Given the description of an element on the screen output the (x, y) to click on. 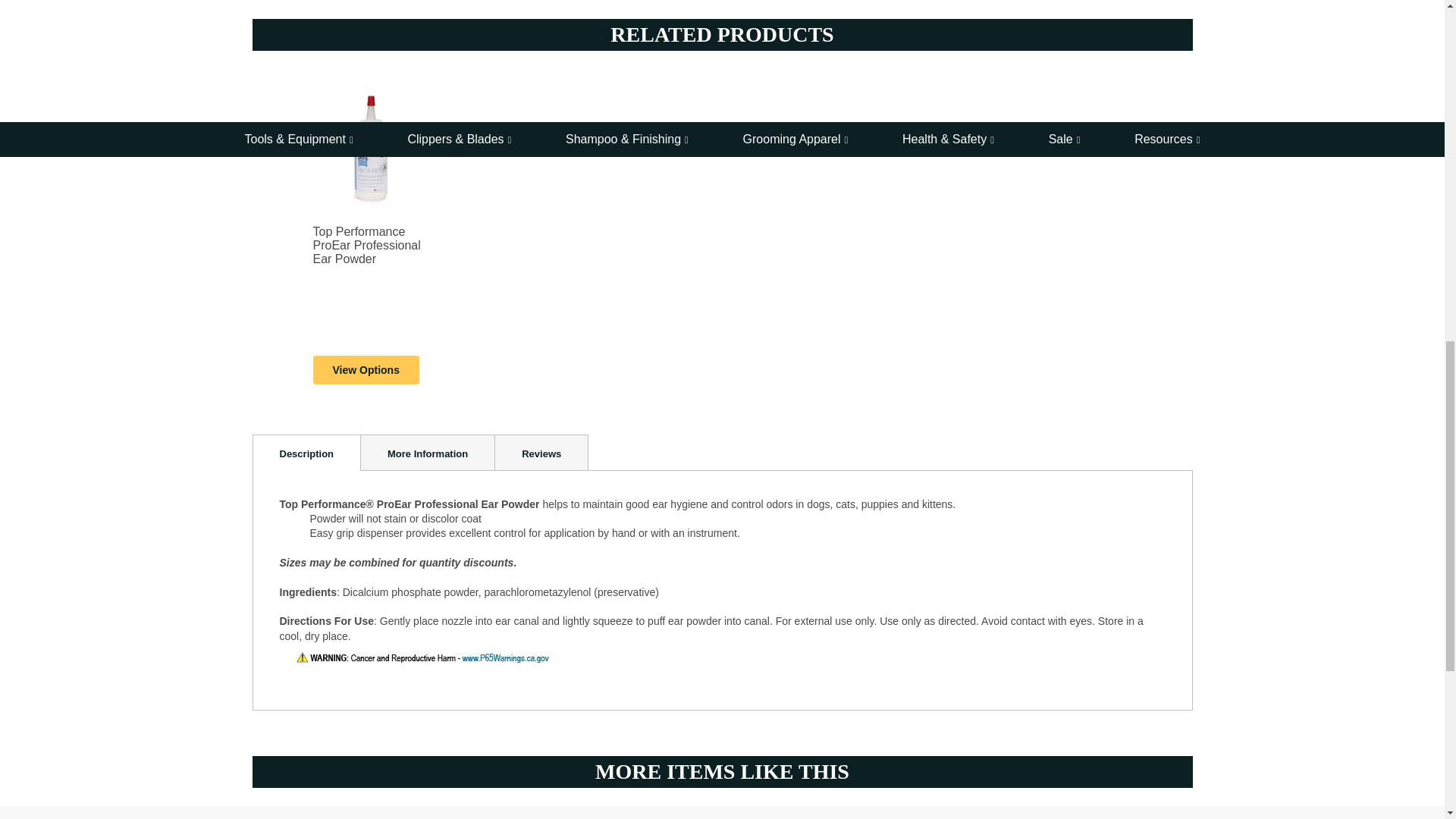
Reviews (541, 452)
Description (306, 452)
More Information (427, 452)
